Given the description of an element on the screen output the (x, y) to click on. 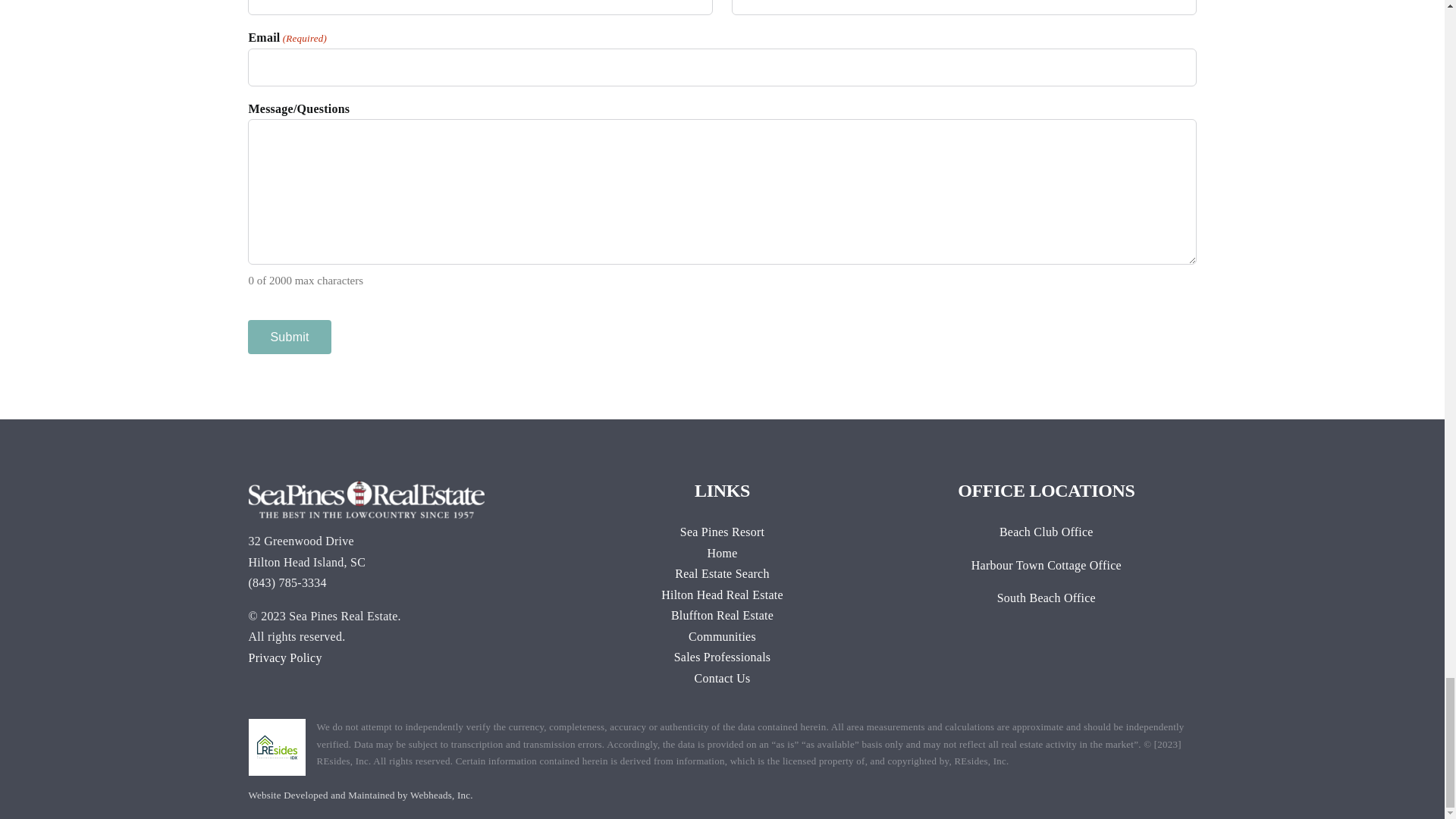
Submit (288, 336)
